Given the description of an element on the screen output the (x, y) to click on. 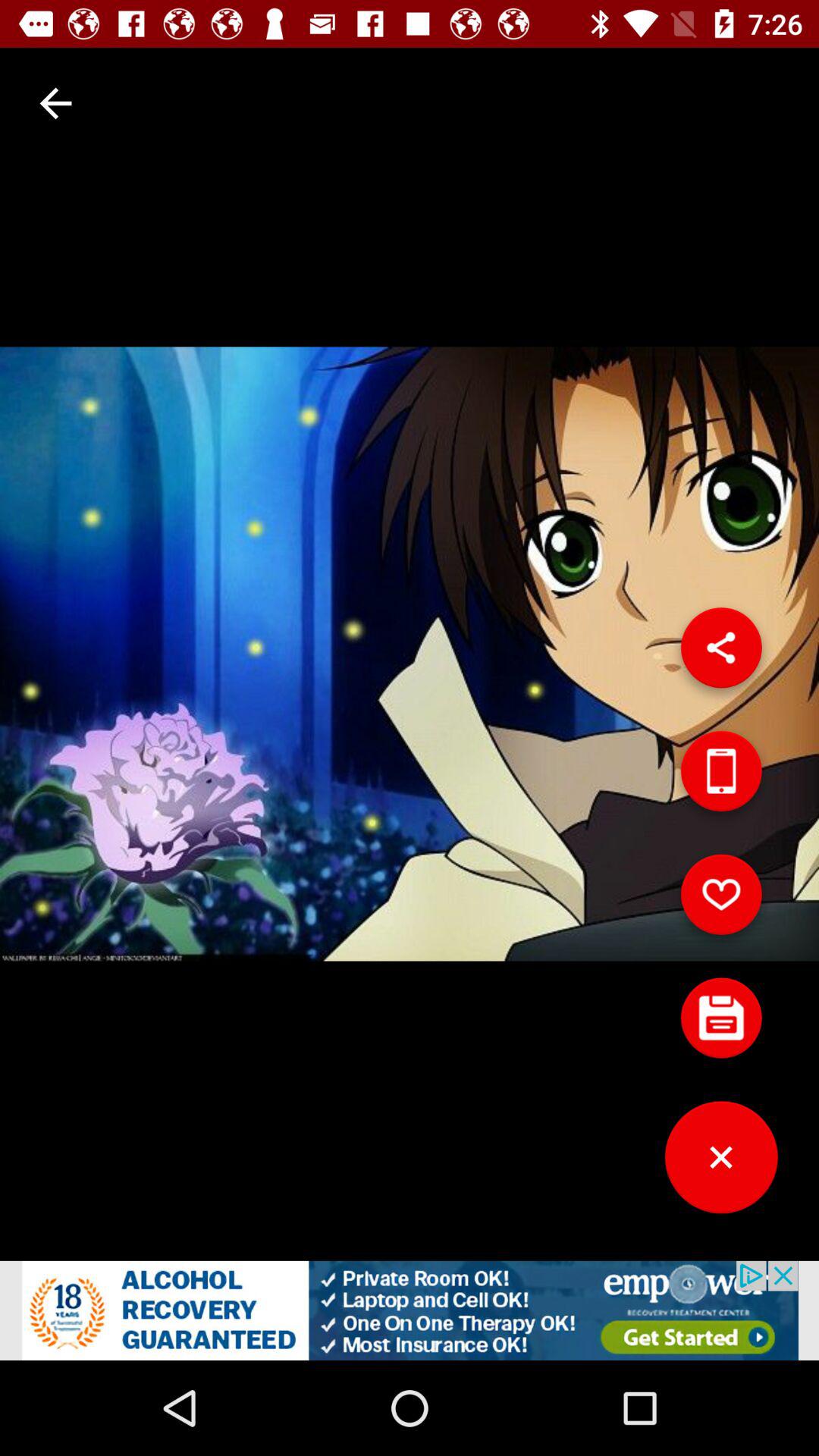
close button (721, 1163)
